Given the description of an element on the screen output the (x, y) to click on. 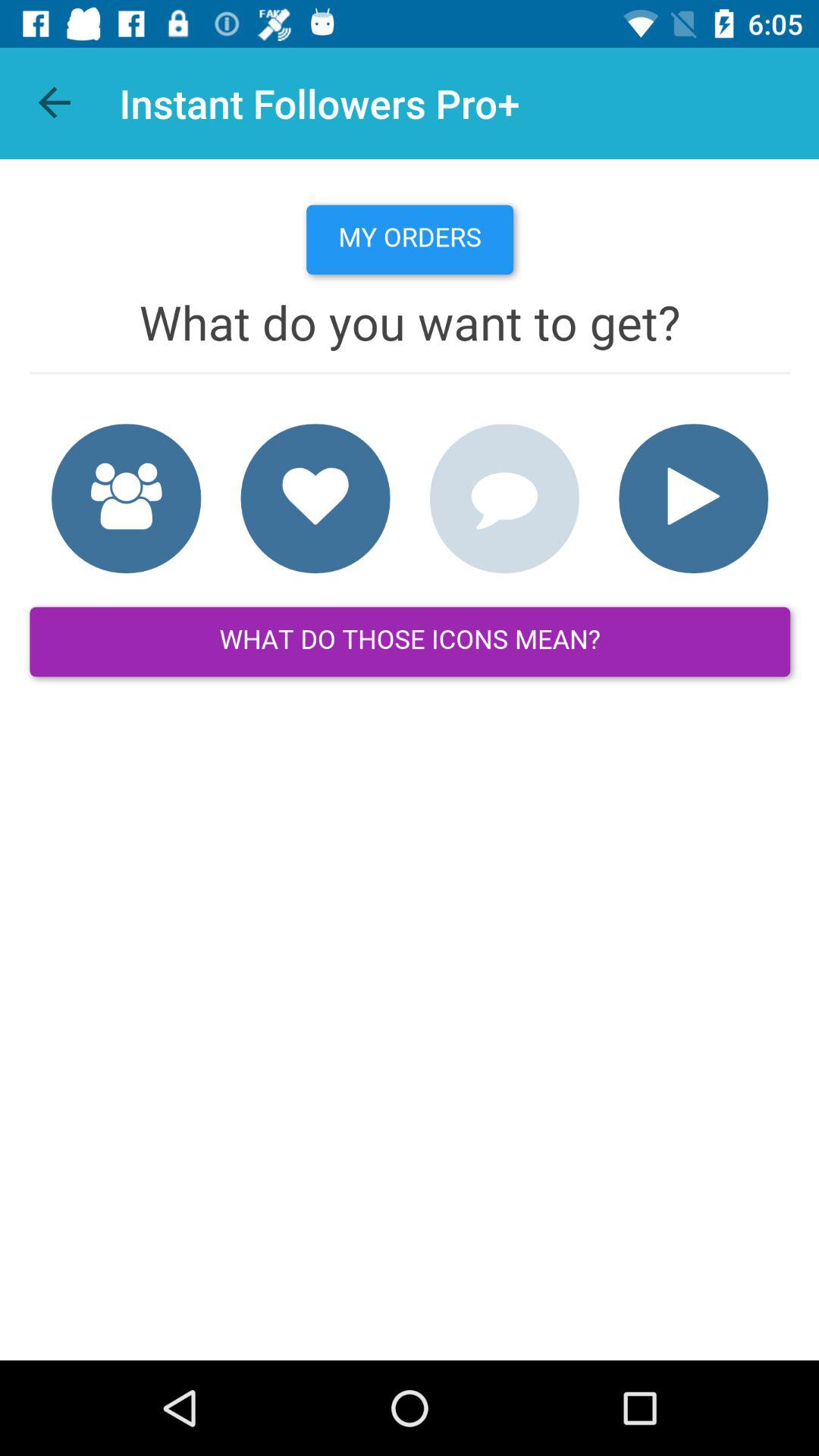
previews button (55, 103)
